Given the description of an element on the screen output the (x, y) to click on. 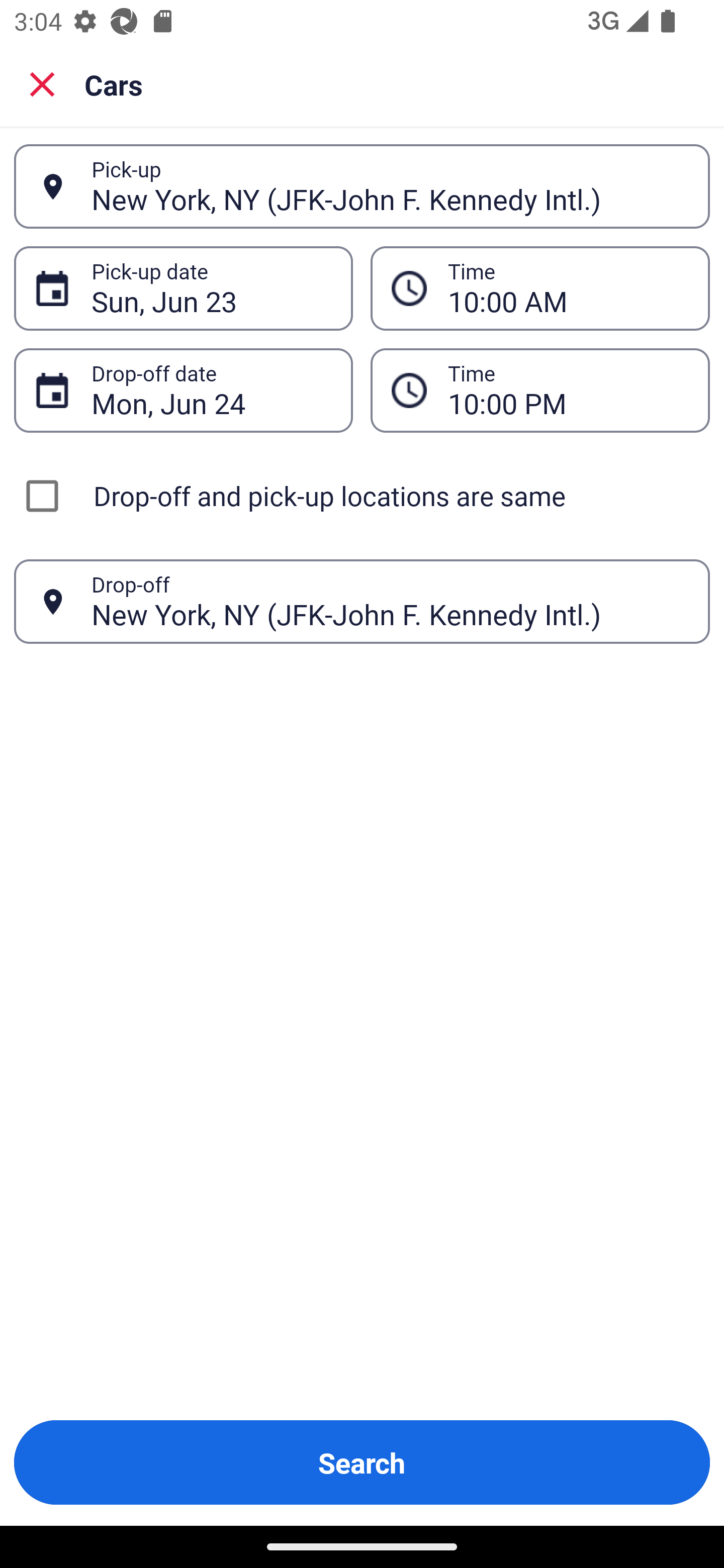
Close search screen (41, 83)
New York, NY (JFK-John F. Kennedy Intl.) Pick-up (361, 186)
New York, NY (JFK-John F. Kennedy Intl.) (389, 186)
Sun, Jun 23 Pick-up date (183, 288)
10:00 AM (540, 288)
Sun, Jun 23 (211, 288)
10:00 AM (568, 288)
Mon, Jun 24 Drop-off date (183, 390)
10:00 PM (540, 390)
Mon, Jun 24 (211, 390)
10:00 PM (568, 390)
Drop-off and pick-up locations are same (361, 495)
New York, NY (JFK-John F. Kennedy Intl.) Drop-off (361, 601)
New York, NY (JFK-John F. Kennedy Intl.) (389, 601)
Search Button Search (361, 1462)
